Given the description of an element on the screen output the (x, y) to click on. 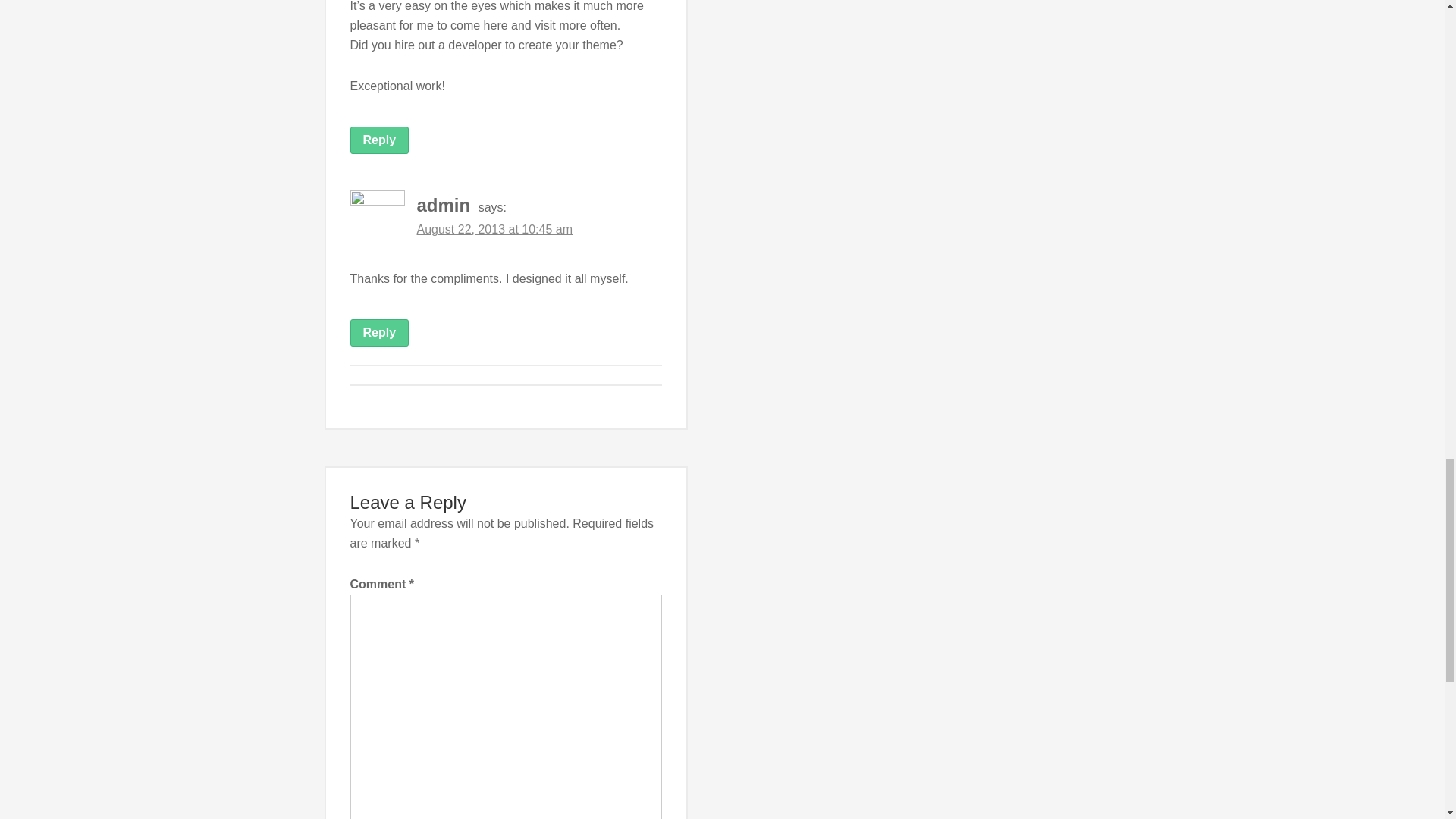
August 22, 2013 at 10:45 am (494, 228)
Reply (379, 139)
Reply (379, 332)
